Given the description of an element on the screen output the (x, y) to click on. 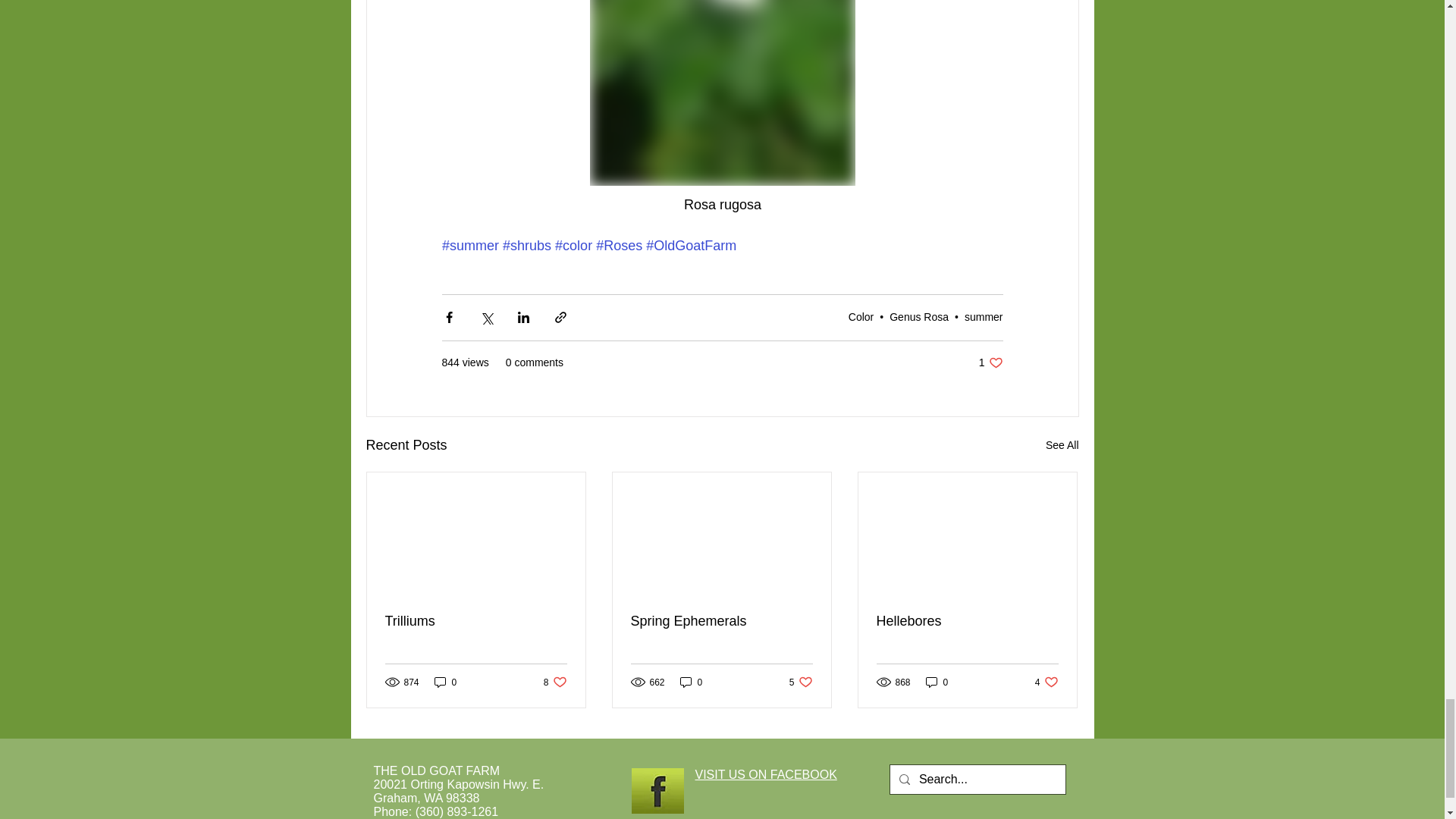
0 (555, 681)
summer (445, 681)
Trilliums (983, 316)
Spring Ephemerals (476, 621)
0 (990, 362)
Genus Rosa (800, 681)
See All (721, 621)
Color (691, 681)
